Given the description of an element on the screen output the (x, y) to click on. 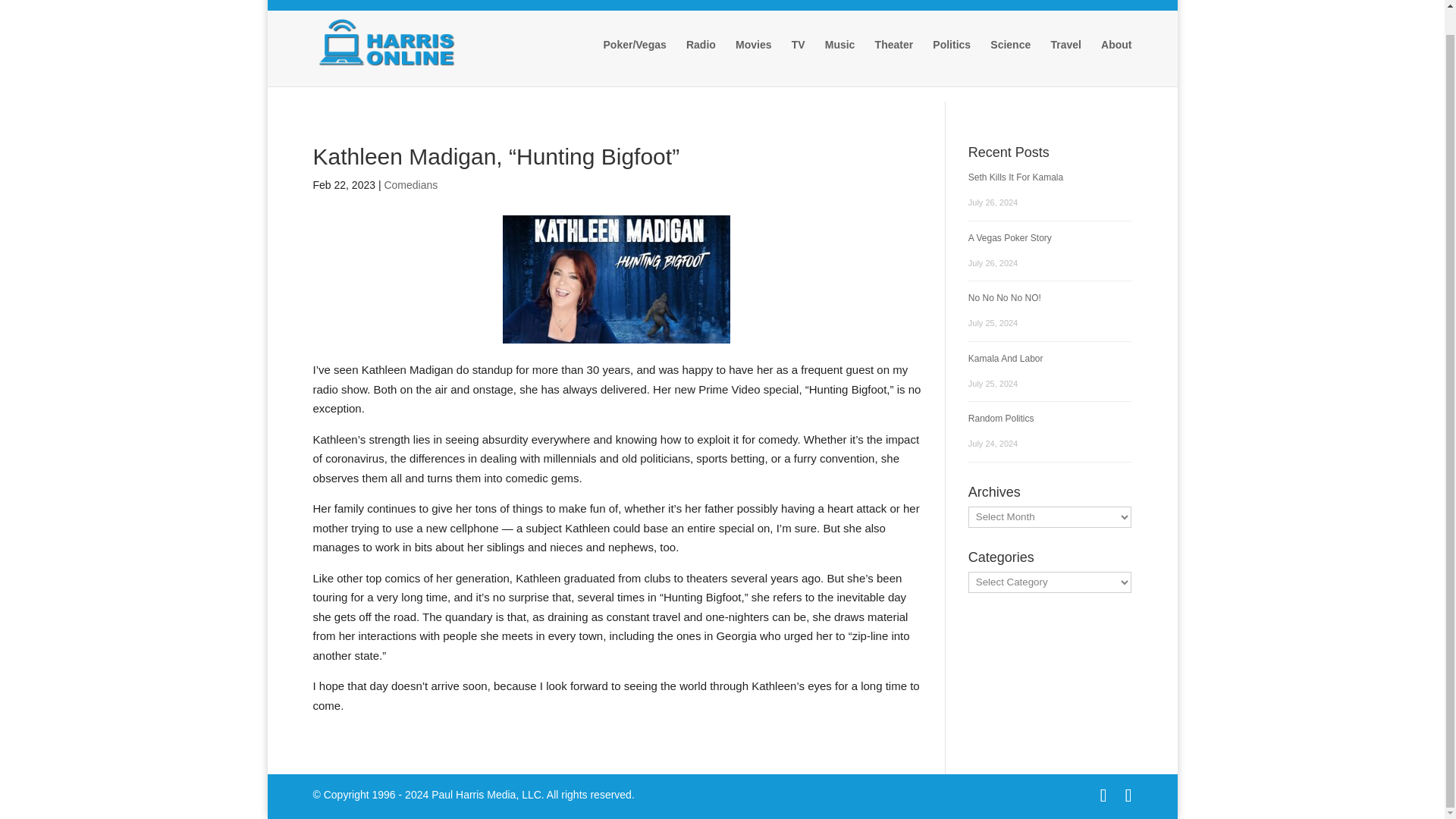
A Vegas Poker Story (1009, 237)
Politics (952, 58)
Seth Kills It For Kamala (1015, 176)
Movies (753, 58)
Science (1010, 58)
No No No No NO! (1004, 297)
Kamala And Labor (1005, 357)
Search (790, 104)
Comedians (411, 184)
Random Politics (1000, 418)
Theater (894, 58)
